Given the description of an element on the screen output the (x, y) to click on. 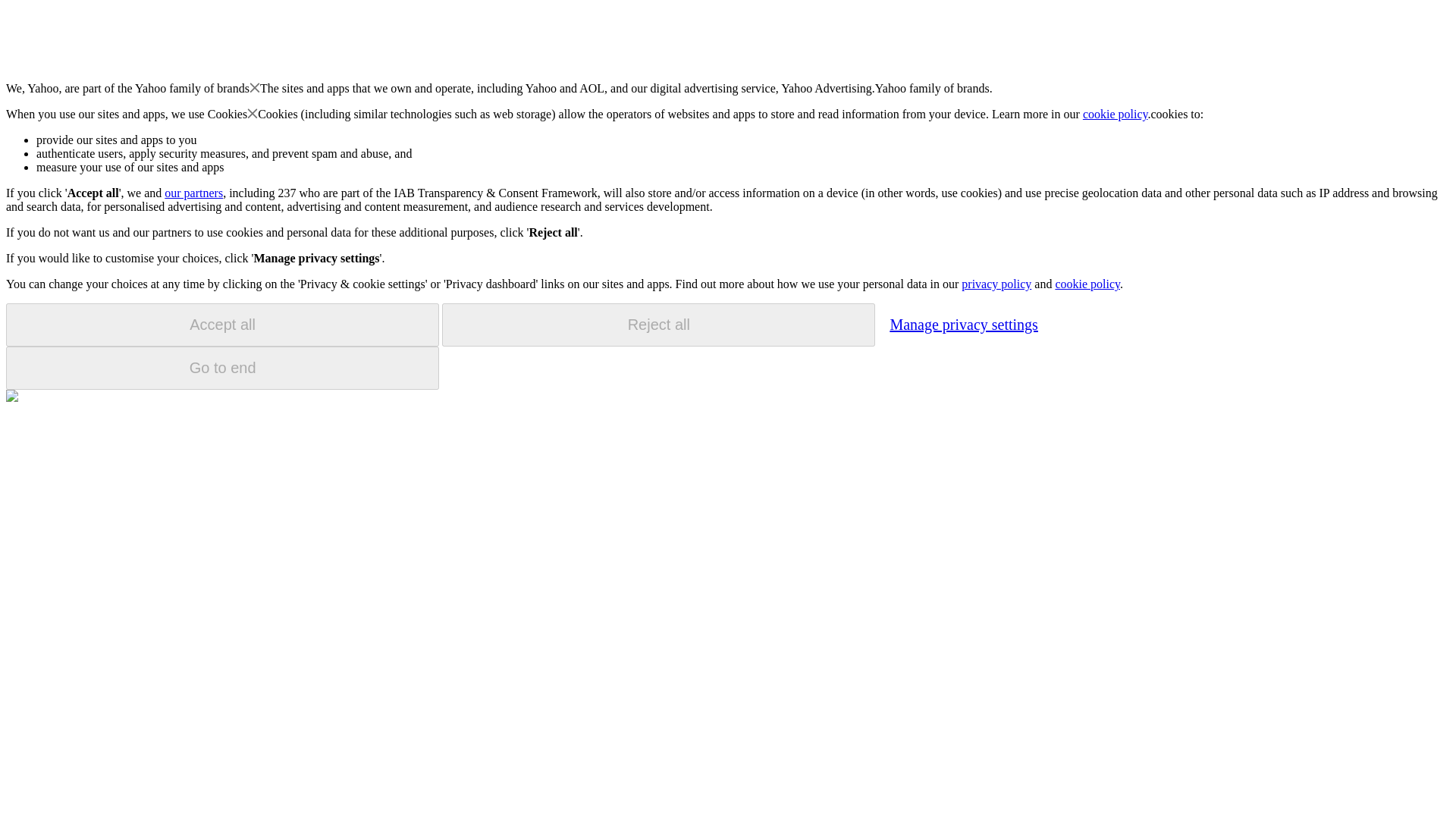
cookie policy (1086, 283)
cookie policy (1115, 113)
Reject all (658, 324)
our partners (193, 192)
Accept all (222, 324)
Manage privacy settings (963, 323)
privacy policy (995, 283)
Go to end (222, 367)
